Given the description of an element on the screen output the (x, y) to click on. 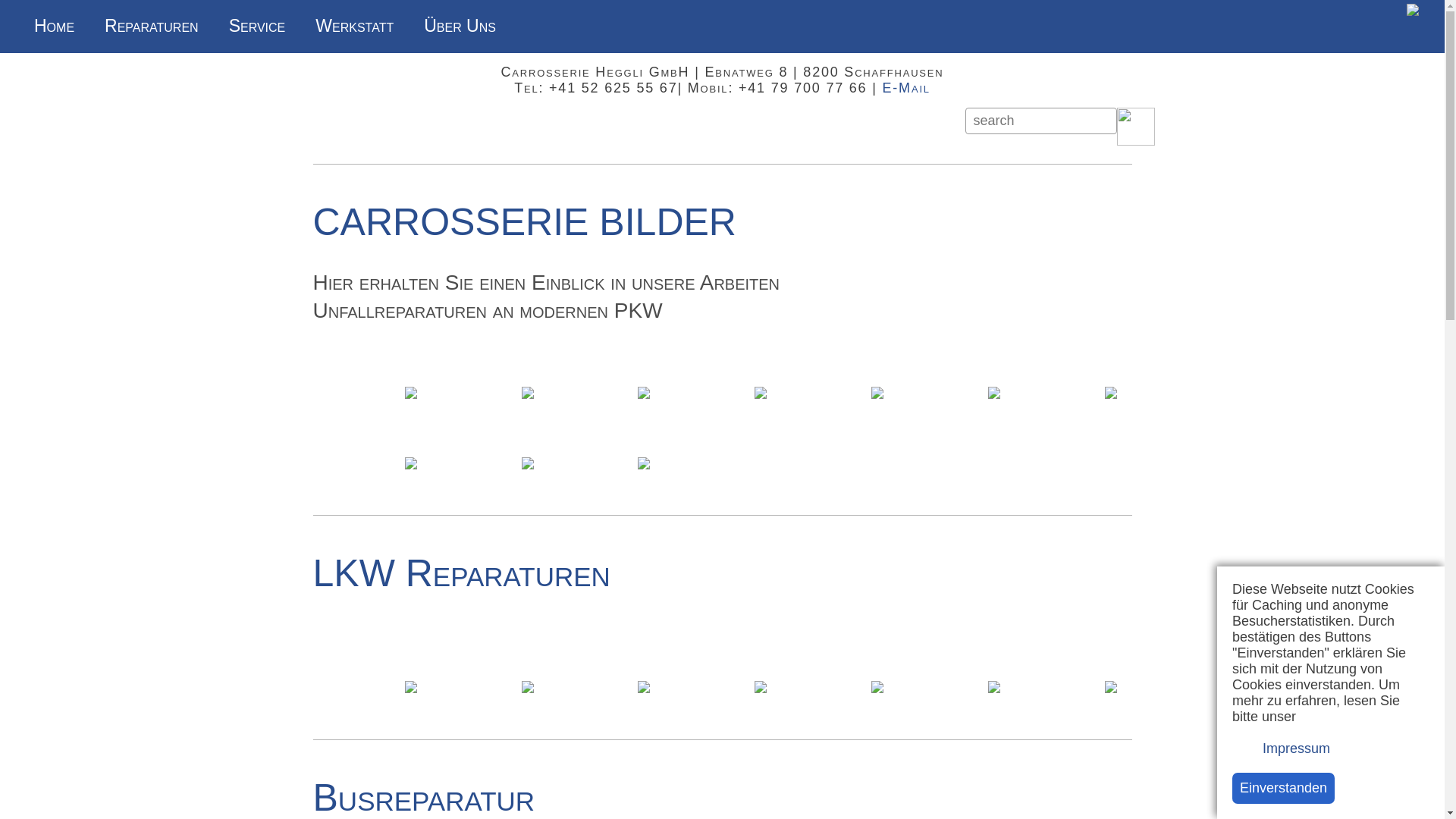
SeitenTop Element type: hover (1418, 737)
CARROSSERIE BILDER Element type: hover (721, 411)
LKW Reparaturen Element type: hover (721, 670)
Impressum Element type: text (1281, 748)
E-Mail Element type: text (906, 87)
